Given the description of an element on the screen output the (x, y) to click on. 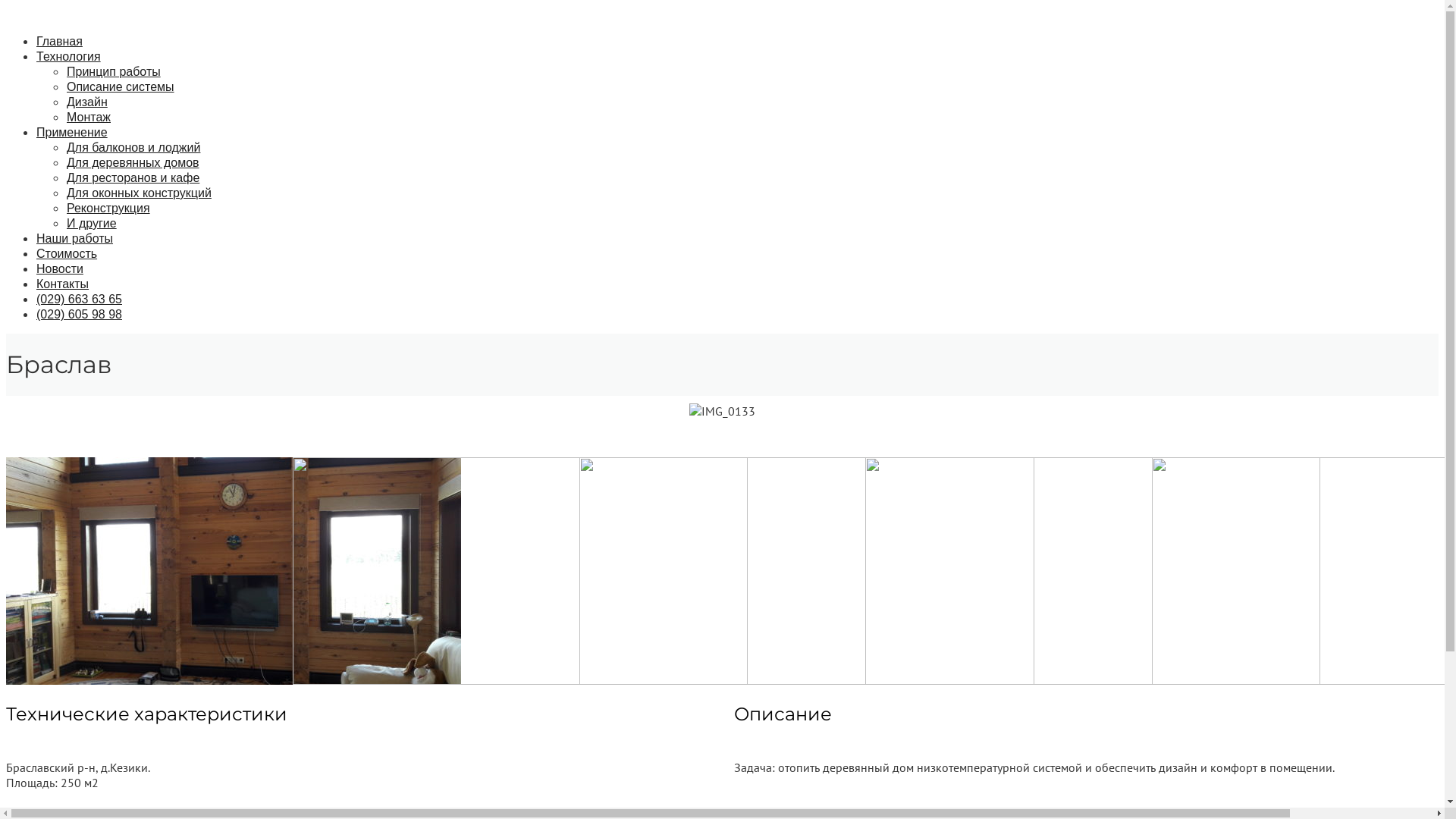
(029) 663 63 65 Element type: text (79, 298)
Skip to content Element type: text (5, 5)
(029) 605 98 98 Element type: text (79, 313)
IMG_0133 Element type: hover (722, 410)
